Given the description of an element on the screen output the (x, y) to click on. 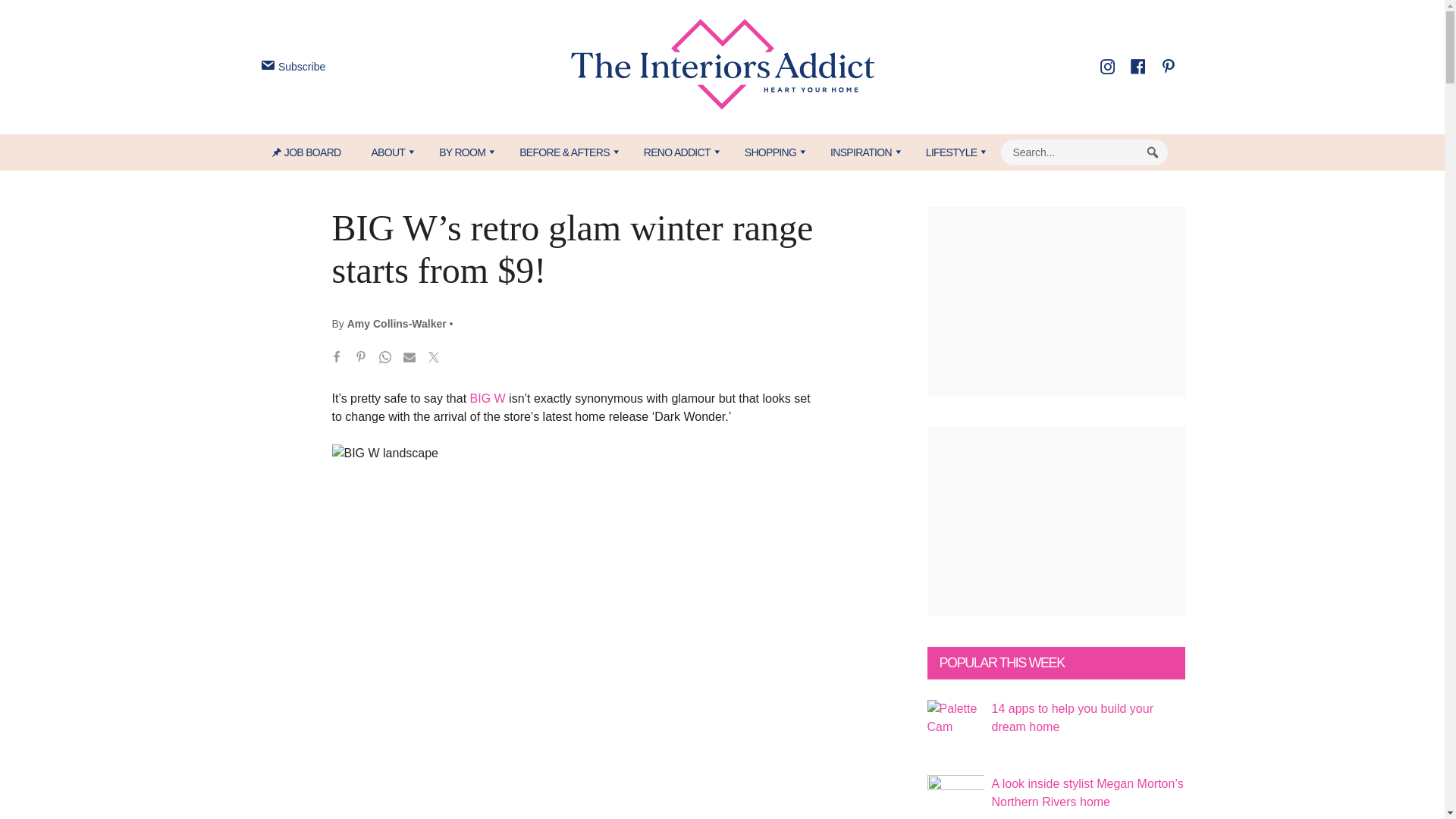
Share on Twitter (433, 359)
Search (1152, 151)
Share on Facebook (336, 359)
JOB BOARD (313, 152)
Subscribe (291, 66)
Share on Pinterest (360, 359)
ABOUT (389, 152)
Share via Email (409, 359)
YES PLEASE! (793, 294)
BY ROOM (463, 152)
